Given the description of an element on the screen output the (x, y) to click on. 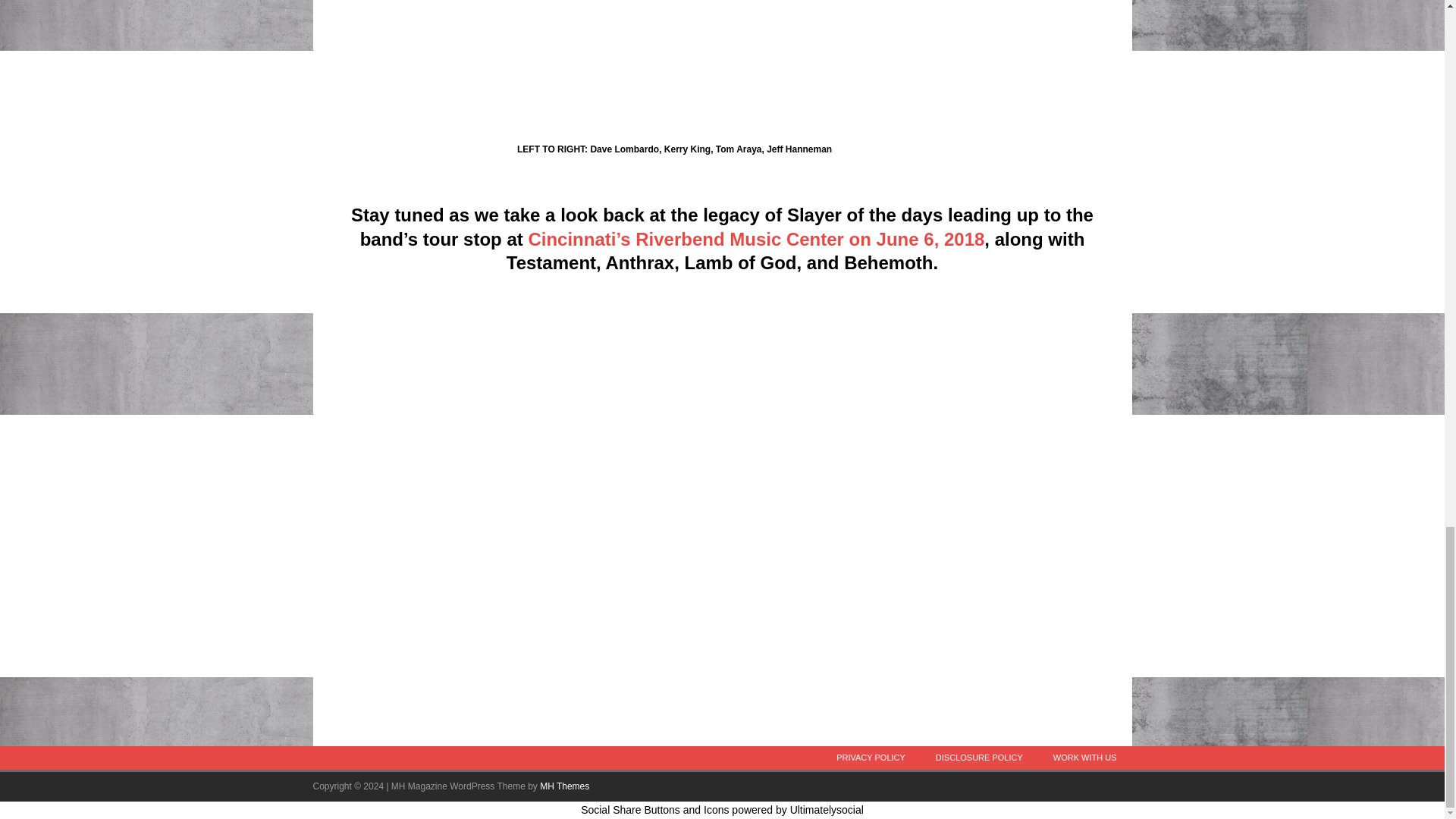
Premium WordPress Themes (564, 786)
